Given the description of an element on the screen output the (x, y) to click on. 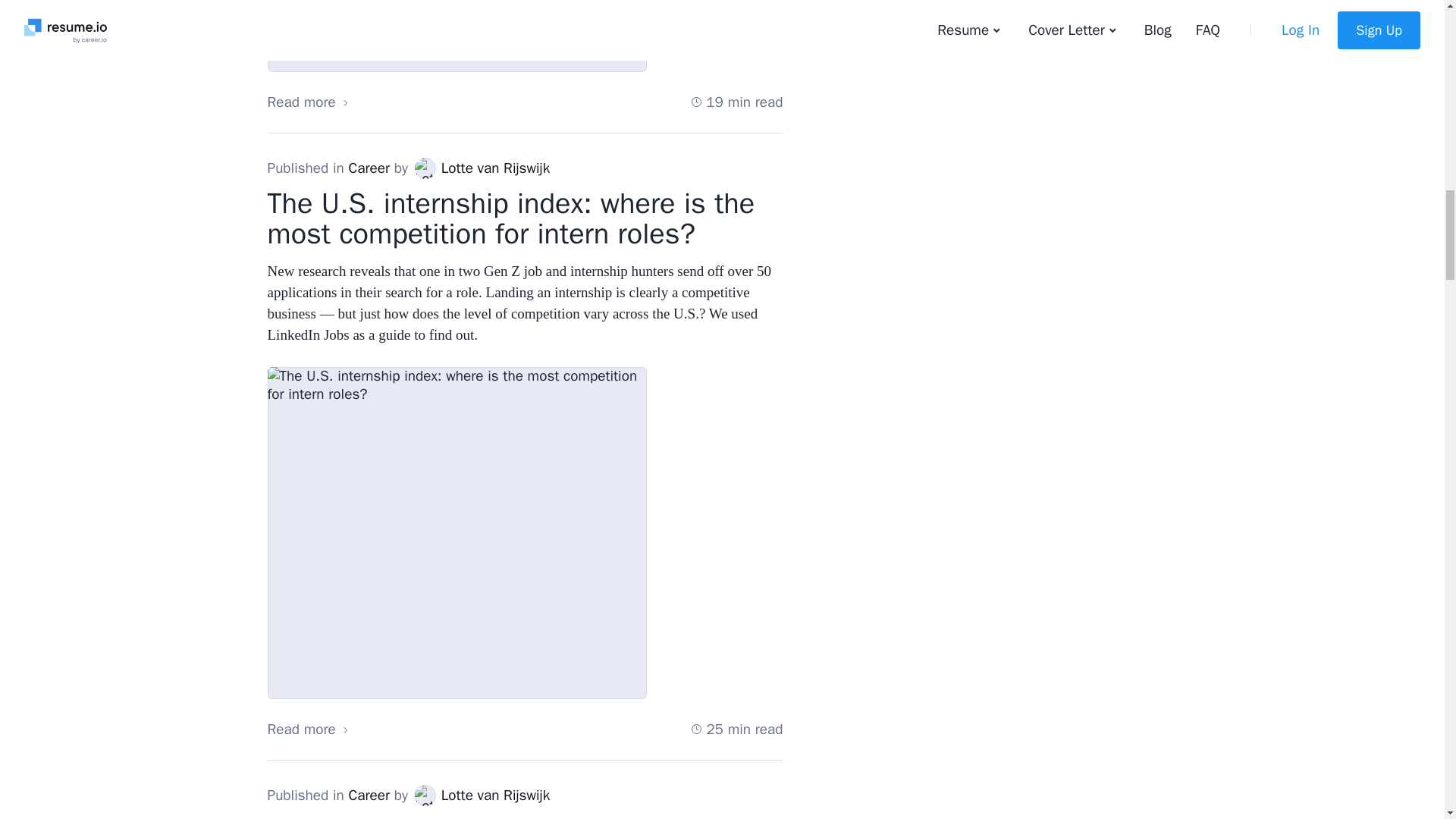
Lotte van Rijswijk (424, 794)
Lotte van Rijswijk (424, 168)
